Given the description of an element on the screen output the (x, y) to click on. 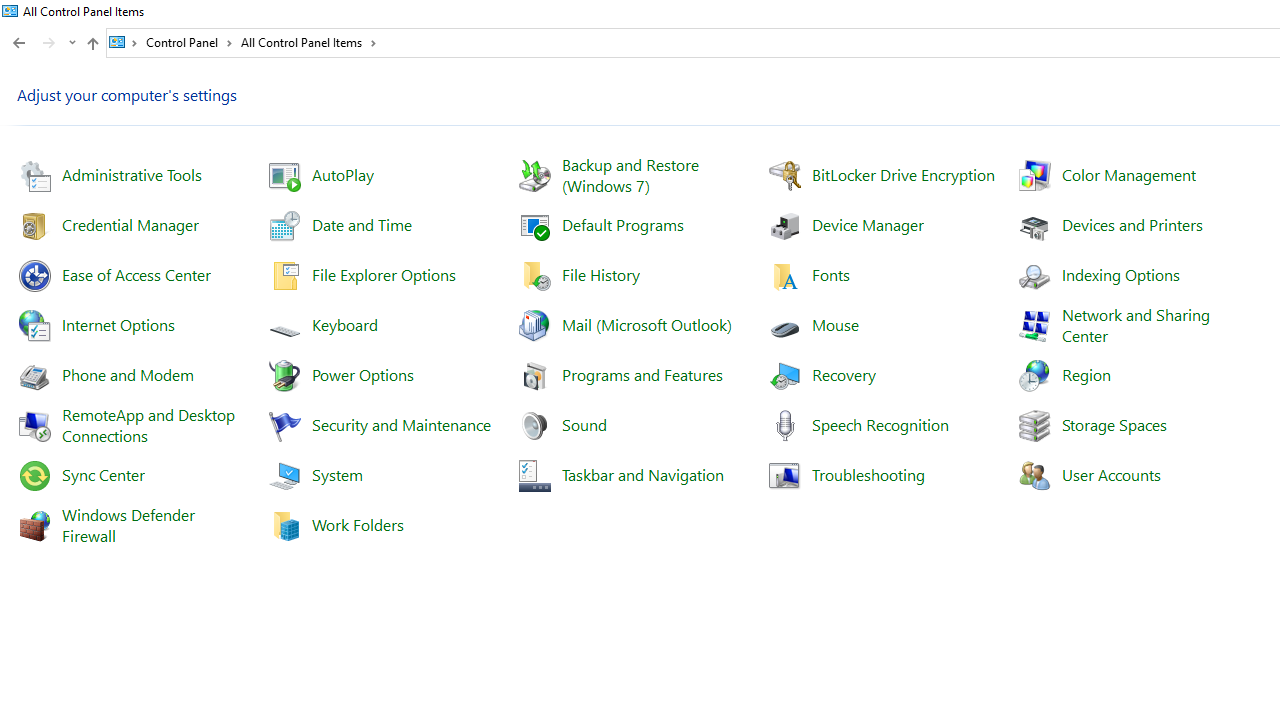
BitLocker Drive Encryption (903, 174)
Recent locations (71, 43)
System (336, 474)
Taskbar and Navigation (642, 474)
Administrative Tools (131, 174)
System (10, 11)
Credential Manager (130, 223)
Region (1086, 374)
Phone and Modem (127, 374)
Forward (Alt + Right Arrow) (49, 43)
Up band toolbar (92, 46)
User Accounts (1111, 474)
Internet Options (118, 323)
Date and Time (361, 223)
Keyboard (344, 323)
